Given the description of an element on the screen output the (x, y) to click on. 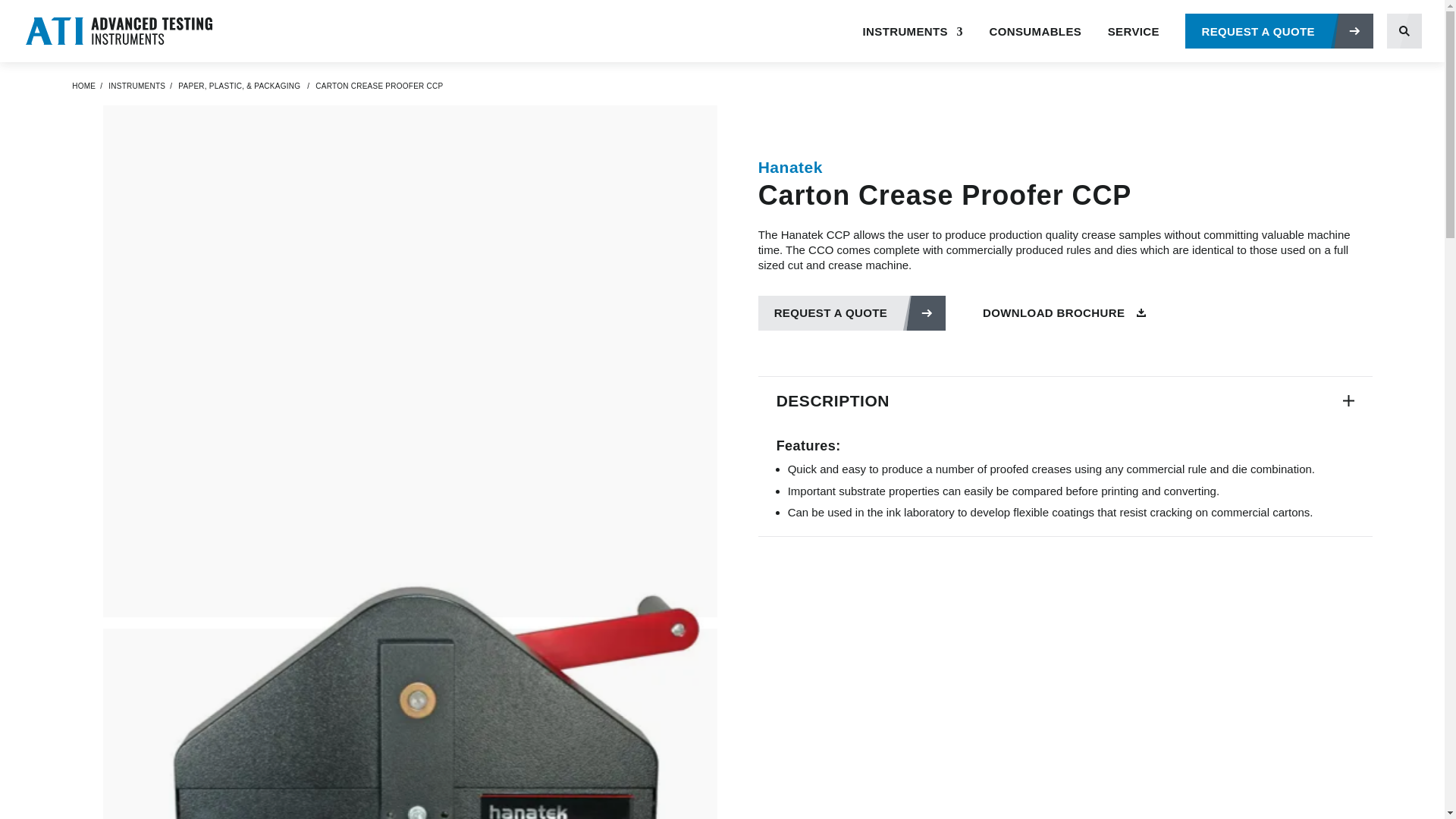
INSTRUMENTS (912, 43)
DOWNLOAD BROCHURE (1063, 312)
SERVICE (1133, 43)
REQUEST A QUOTE (852, 312)
YouTube video player (410, 685)
REQUEST A QUOTE (1279, 30)
INSTRUMENTS (136, 85)
CONSUMABLES (1035, 43)
HOME (83, 85)
